Given the description of an element on the screen output the (x, y) to click on. 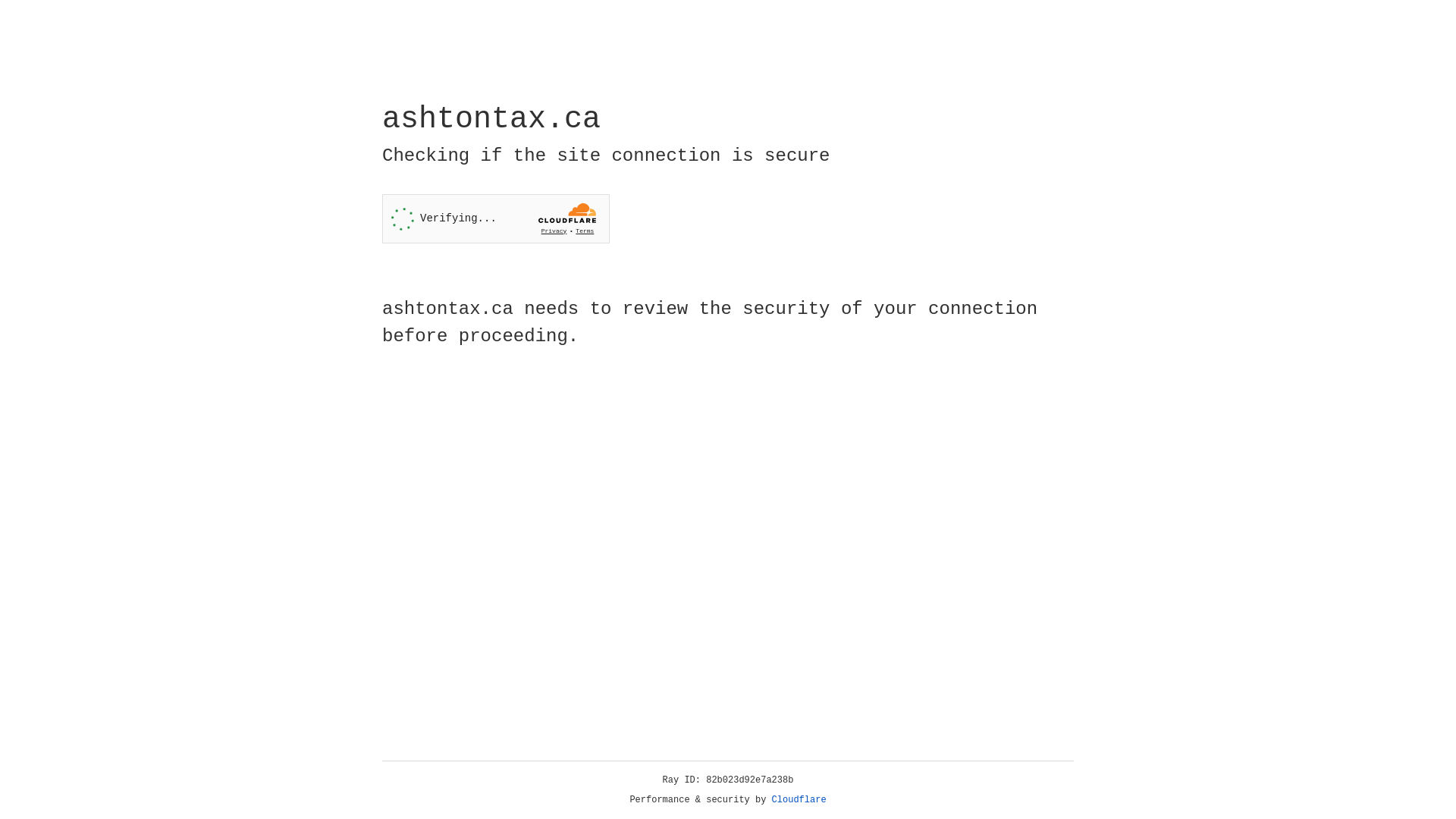
Widget containing a Cloudflare security challenge Element type: hover (495, 218)
Cloudflare Element type: text (798, 799)
